Given the description of an element on the screen output the (x, y) to click on. 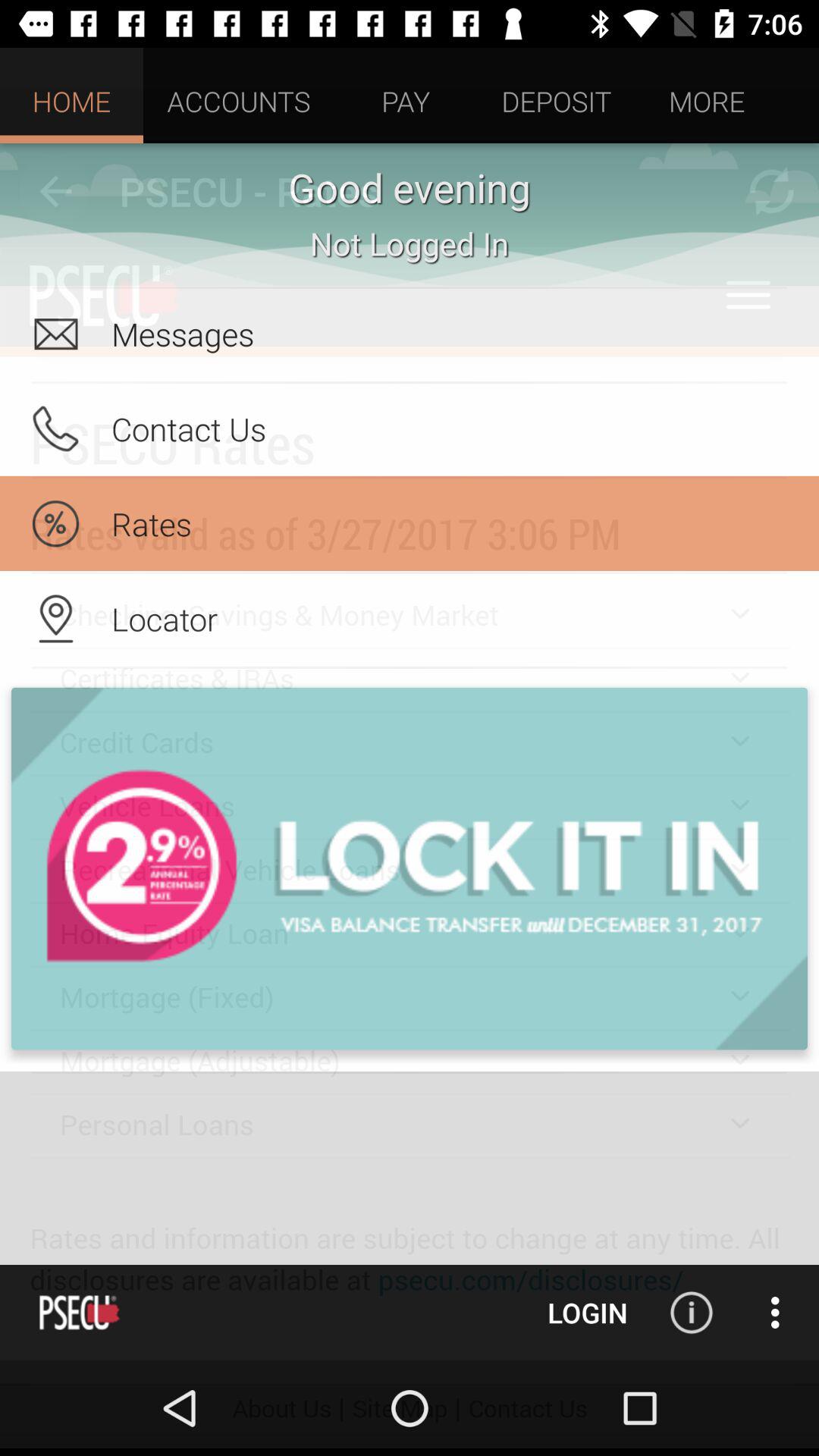
click on icon beside locator (55, 619)
click on icon beside messages (55, 334)
click on login button at the bottom of the page (587, 1312)
